Given the description of an element on the screen output the (x, y) to click on. 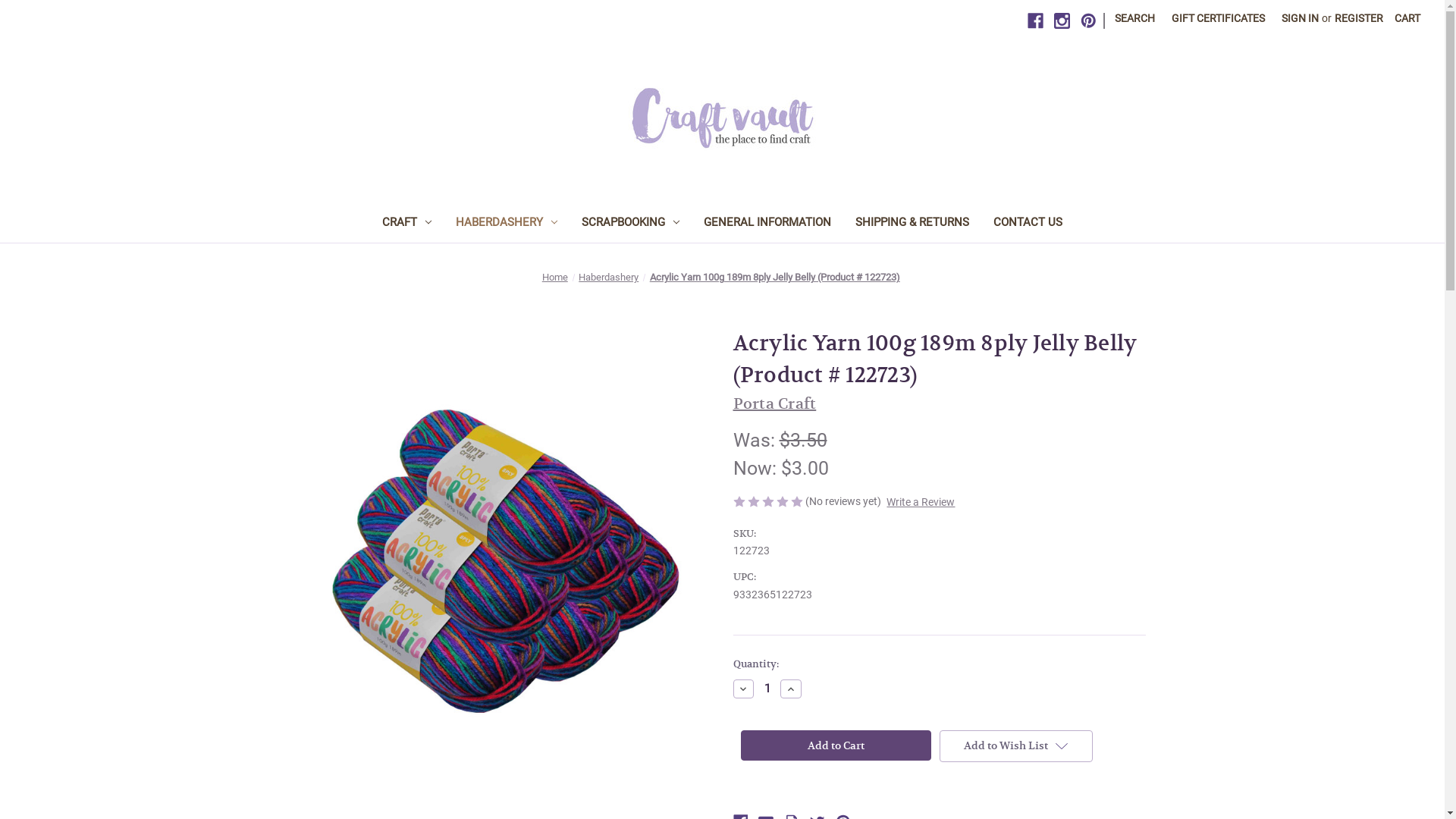
Pinterest Element type: hover (1088, 20)
GENERAL INFORMATION Element type: text (767, 223)
Home Element type: text (554, 276)
HABERDASHERY Element type: text (506, 223)
CART Element type: text (1407, 18)
Add to Wish List Element type: text (1015, 746)
REGISTER Element type: text (1358, 18)
Porta Craft Element type: text (773, 403)
SEARCH Element type: text (1134, 18)
CRAFT Element type: text (406, 223)
Haberdashery Element type: text (608, 276)
SIGN IN Element type: text (1300, 18)
Acrylic Yarn 100g 189m 8ply Jelly Belly (Product # 122723) Element type: text (774, 276)
Craft Vault Element type: hover (722, 117)
SCRAPBOOKING Element type: text (630, 223)
Add to Cart Element type: text (835, 745)
CONTACT US Element type: text (1027, 223)
GIFT CERTIFICATES Element type: text (1218, 18)
Facebook Element type: hover (1035, 20)
Instagram Element type: hover (1062, 20)
Acrylic Yarn 100g 189m 8ply Jelly Belly (Product # 122723) Element type: hover (504, 561)
SHIPPING & RETURNS Element type: text (912, 223)
Write a Review Element type: text (920, 502)
